Given the description of an element on the screen output the (x, y) to click on. 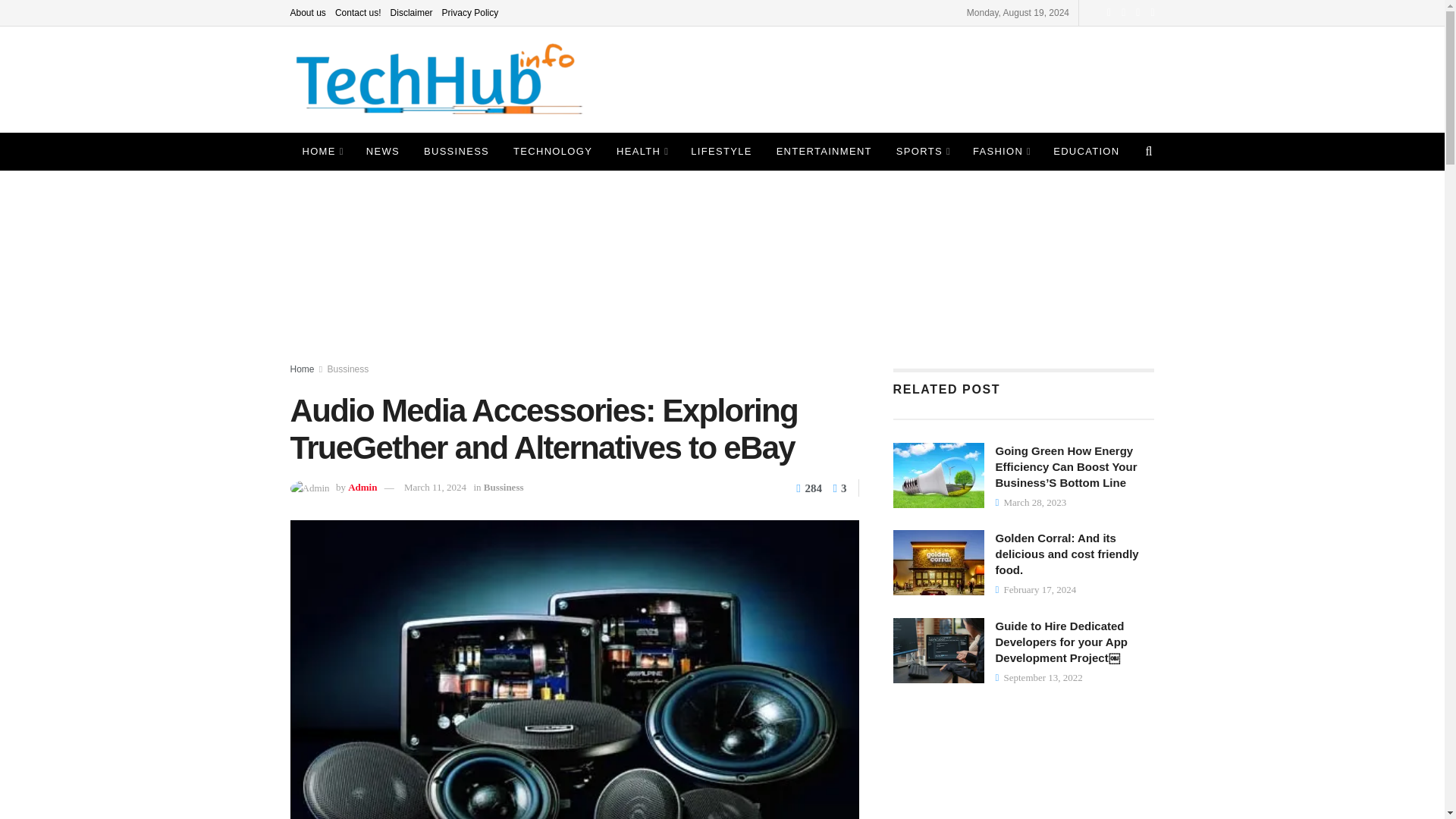
3 (836, 488)
Disclaimer (411, 12)
Privacy Policy (470, 12)
March 11, 2024 (434, 487)
FASHION (1000, 151)
ENTERTAINMENT (823, 151)
HOME (321, 151)
NEWS (382, 151)
Home (301, 368)
EDUCATION (1086, 151)
